Given the description of an element on the screen output the (x, y) to click on. 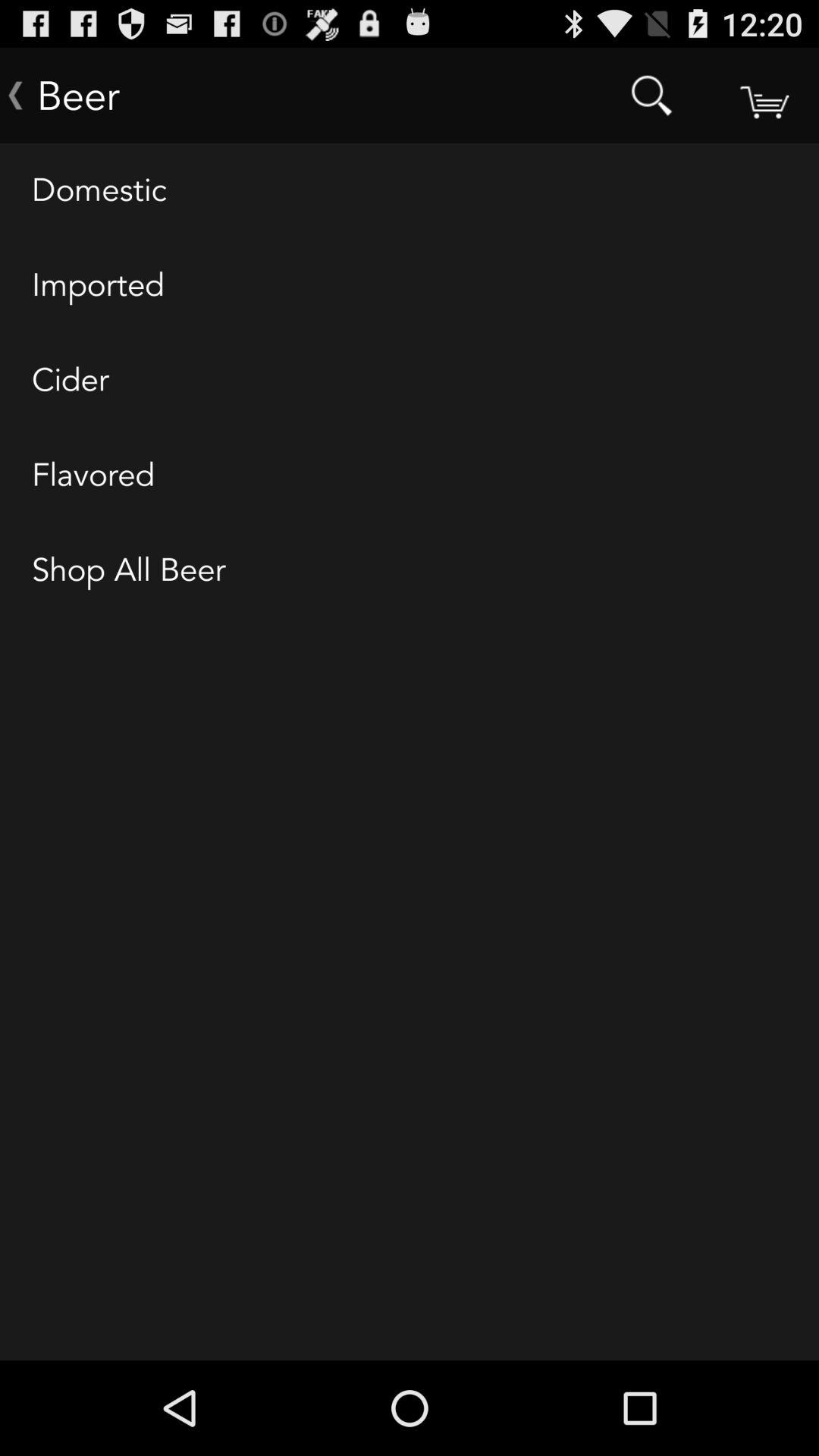
click icon below the imported icon (409, 380)
